Given the description of an element on the screen output the (x, y) to click on. 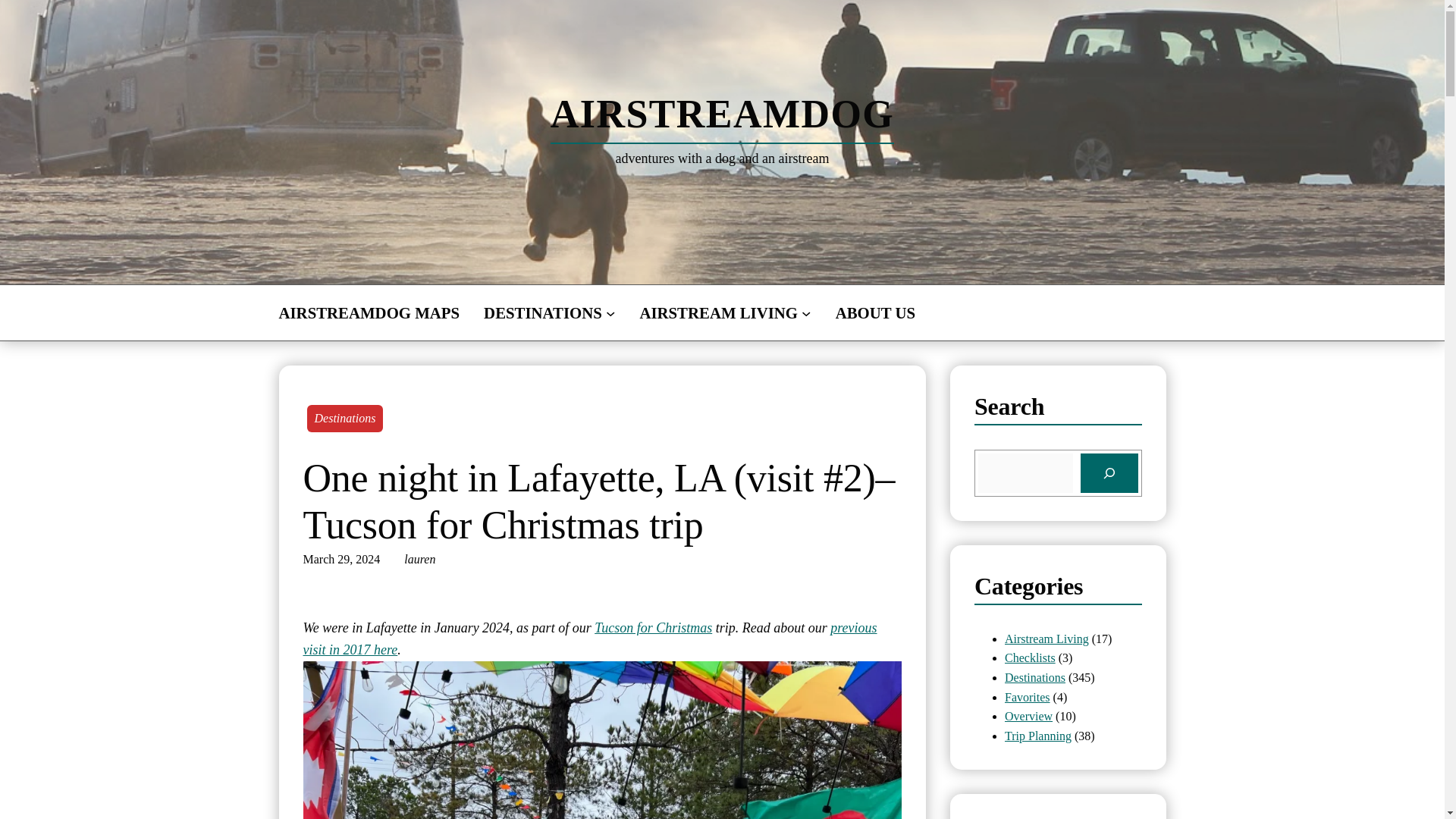
Destinations (343, 418)
One night in Lafayette, LA (589, 638)
Tucson for Christmas (652, 627)
AIRSTREAM LIVING (718, 312)
previous visit in 2017 here (589, 638)
AIRSTREAMDOG (722, 113)
ABOUT US (875, 312)
DESTINATIONS (542, 312)
AIRSTREAMDOG MAPS (369, 312)
